Given the description of an element on the screen output the (x, y) to click on. 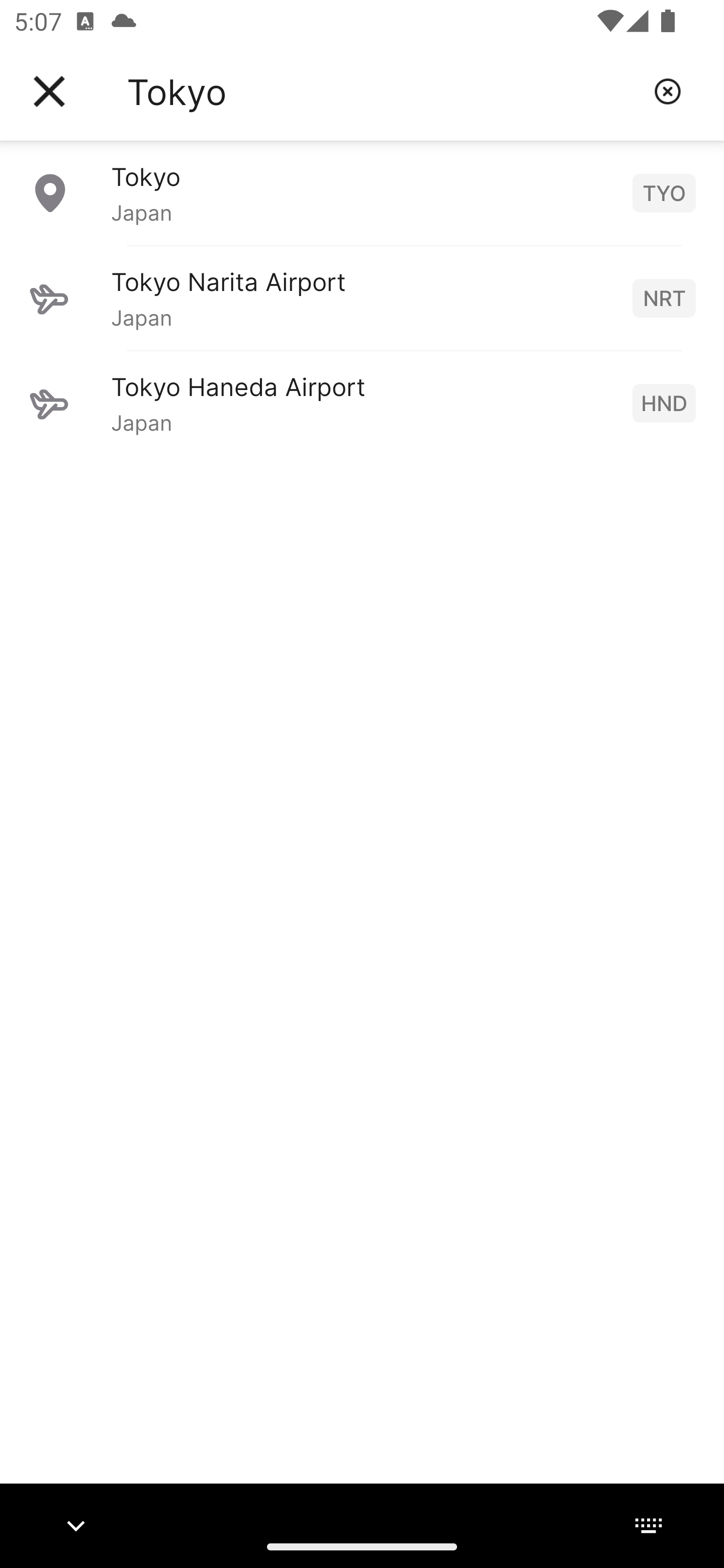
Tokyo (382, 91)
Tokyo Japan TYO (362, 192)
Tokyo Narita Airport Japan NRT (362, 297)
Tokyo Haneda Airport Japan HND (362, 402)
